Given the description of an element on the screen output the (x, y) to click on. 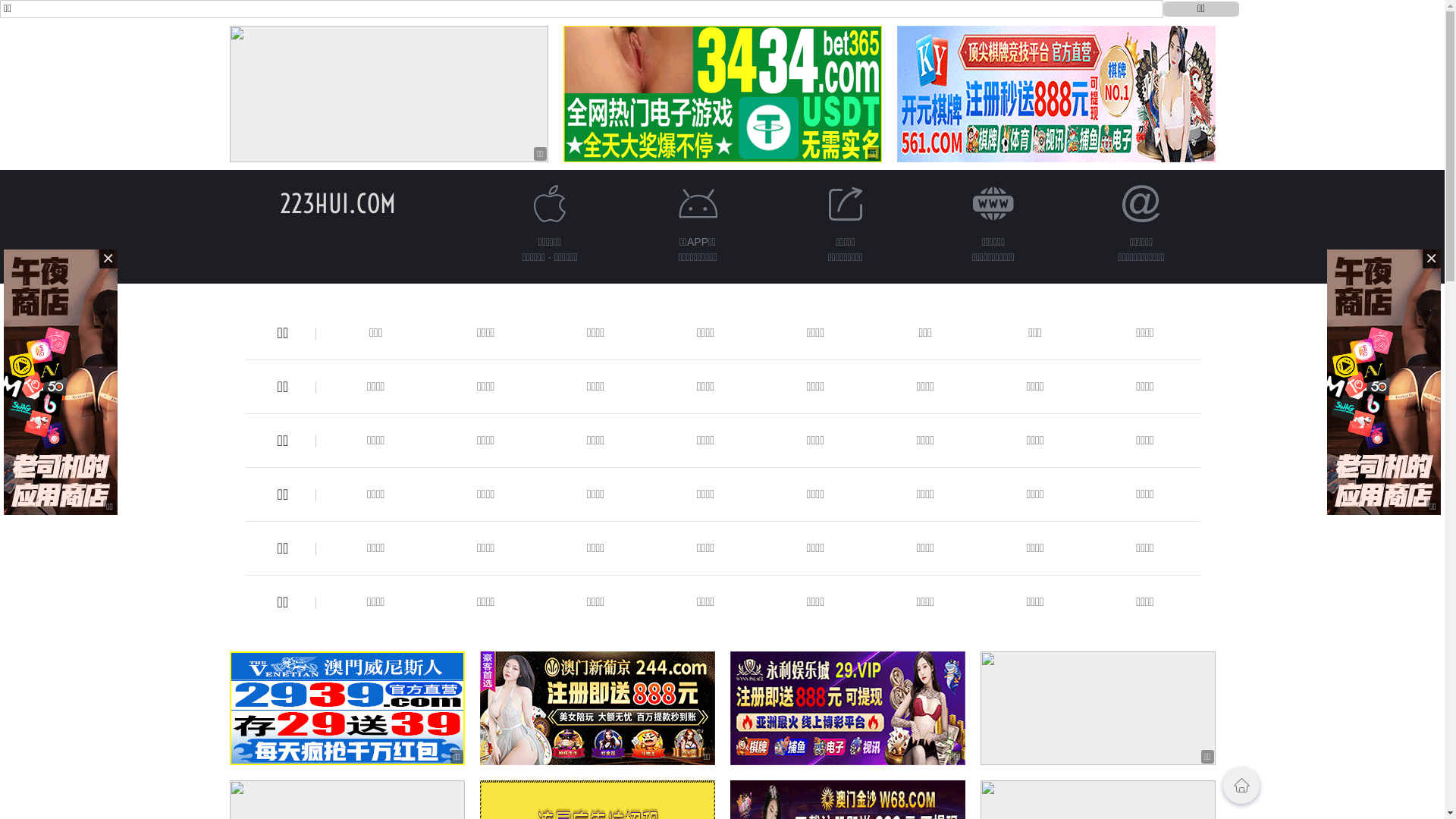
223HUI.COM Element type: text (337, 203)
